Given the description of an element on the screen output the (x, y) to click on. 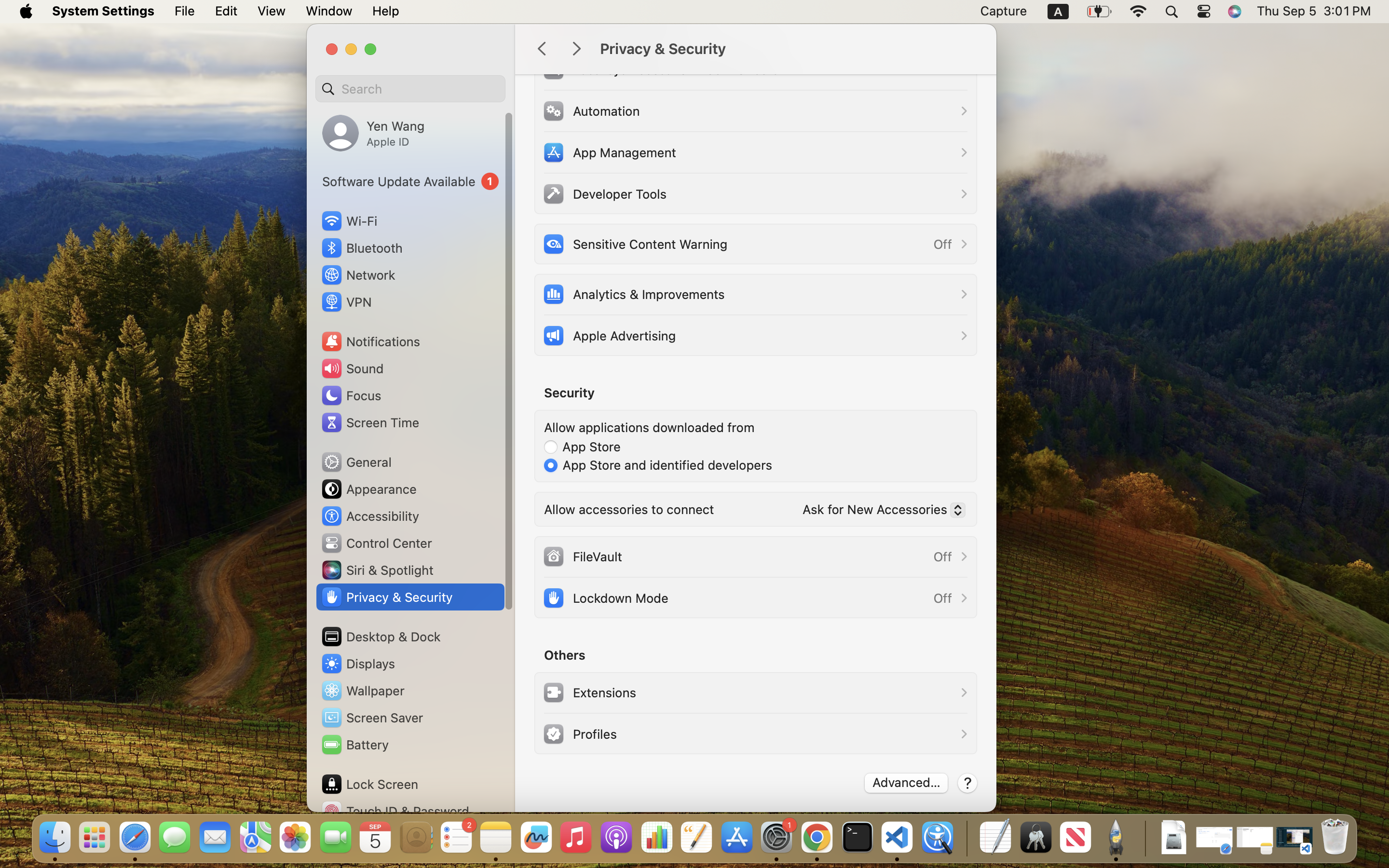
Network Element type: AXStaticText (357, 274)
Appearance Element type: AXStaticText (368, 488)
Accessibility Element type: AXStaticText (369, 515)
Screen Time Element type: AXStaticText (369, 422)
0.4285714328289032 Element type: AXDockItem (965, 837)
